Given the description of an element on the screen output the (x, y) to click on. 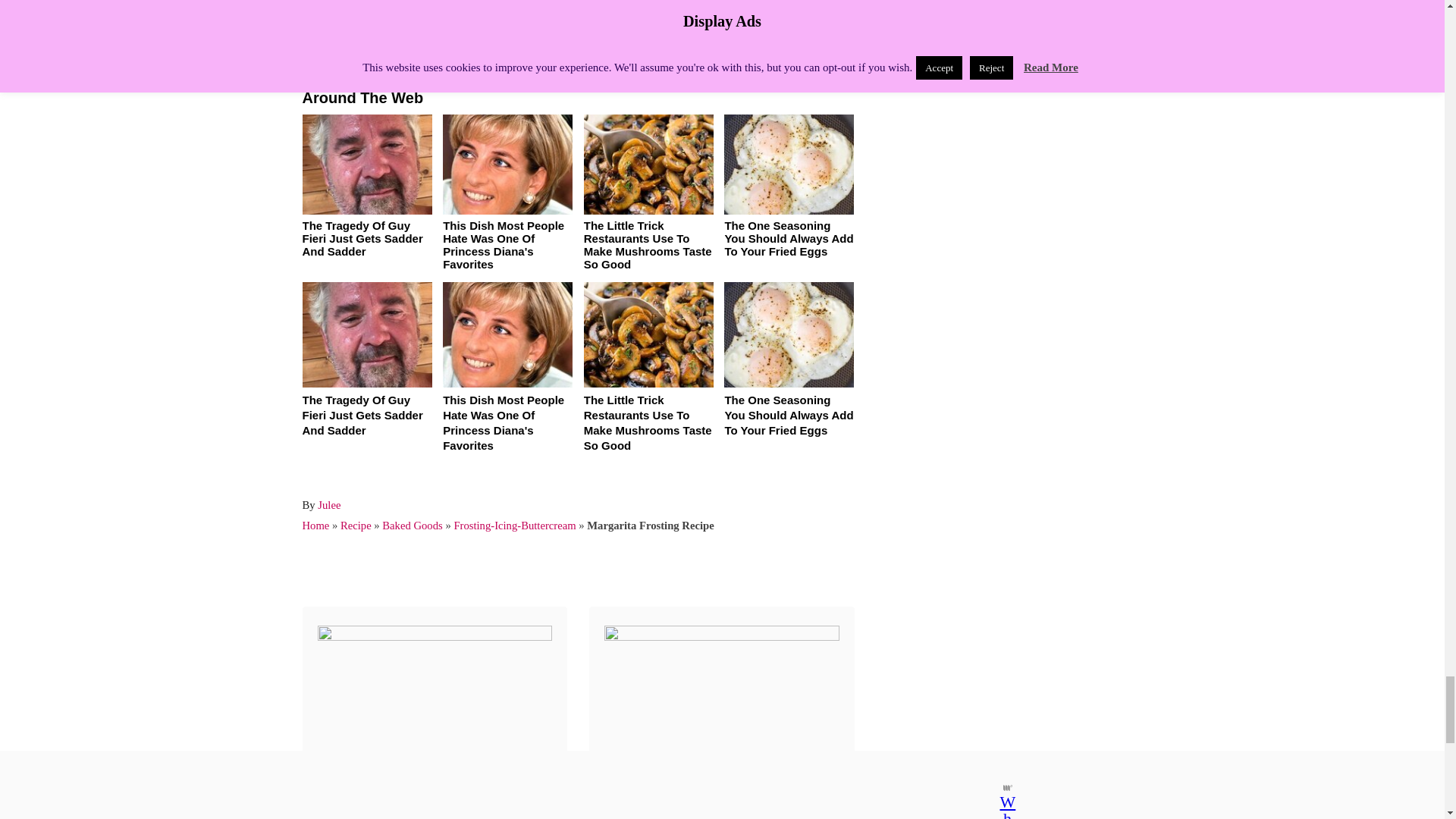
Home (315, 525)
Frosting-Icing-Buttercream (513, 525)
The Tragedy Of Guy Fieri Just Gets Sadder And Sadder (361, 238)
Julee (328, 504)
The Tragedy Of Guy Fieri Just Gets Sadder And Sadder (361, 414)
Baked Goods (411, 525)
Recipe (355, 525)
The One Seasoning You Should Always Add To Your Fried Eggs (788, 414)
The One Seasoning You Should Always Add To Your Fried Eggs (788, 238)
